Given the description of an element on the screen output the (x, y) to click on. 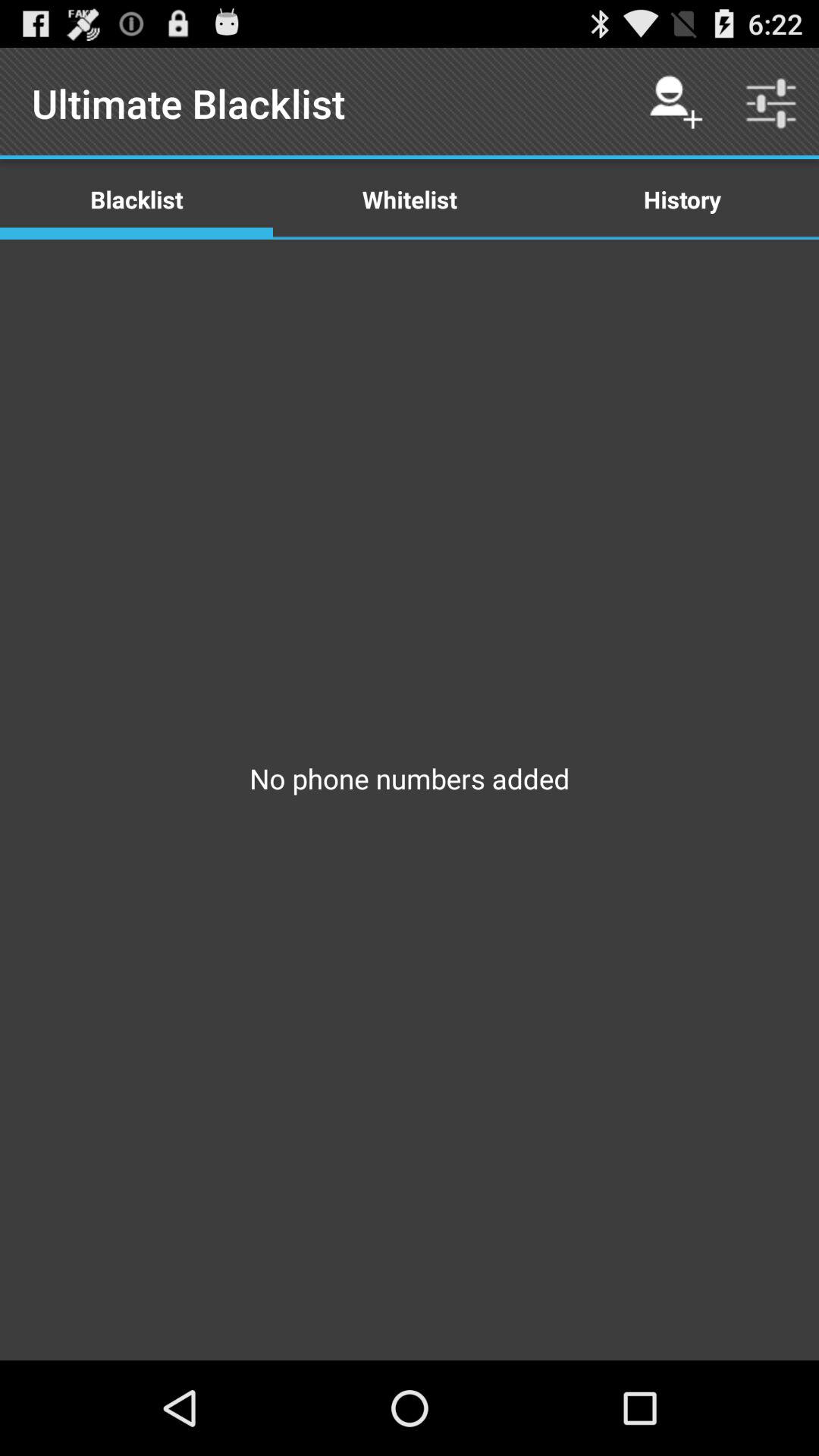
select the item to the right of blacklist icon (409, 199)
